Given the description of an element on the screen output the (x, y) to click on. 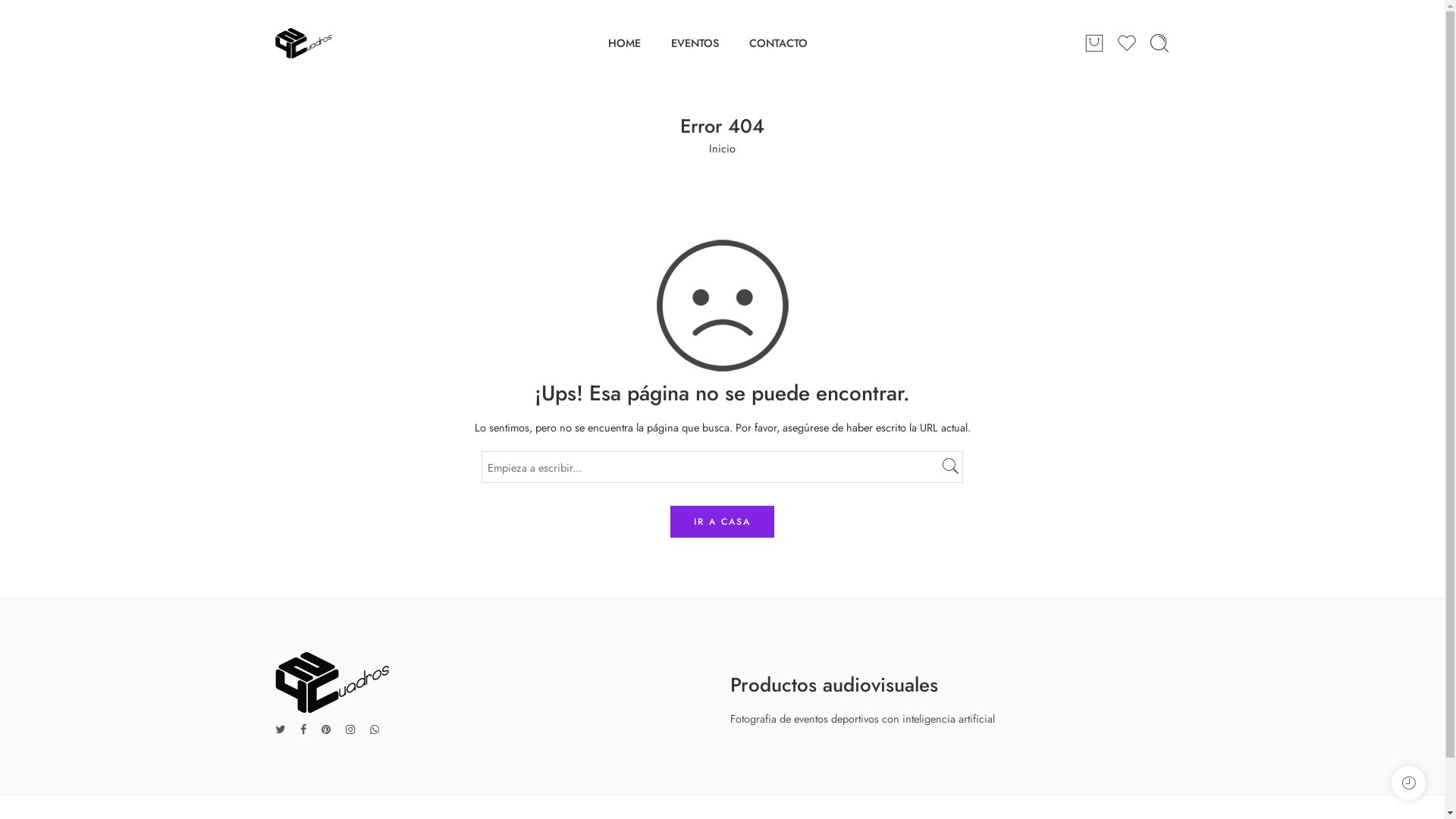
EVENTOS Element type: text (694, 42)
Follow us on Pinterest Element type: hover (325, 728)
Follow us on Whatsapp Element type: hover (374, 728)
Follow us on Instagram Element type: hover (349, 728)
CONTACTO Element type: text (778, 42)
IR A CASA Element type: text (722, 521)
Lista de deseos Element type: hover (1126, 42)
Buscar Element type: hover (1158, 42)
Recently Viewed Element type: hover (1408, 782)
HOME Element type: text (624, 42)
Carro Element type: hover (1093, 42)
Follow us on Facebook Element type: hover (303, 728)
Follow us on Twitter Element type: hover (279, 728)
Inicio Element type: text (722, 147)
24 Cuadros - Productos audiovisuales Element type: hover (303, 43)
